Given the description of an element on the screen output the (x, y) to click on. 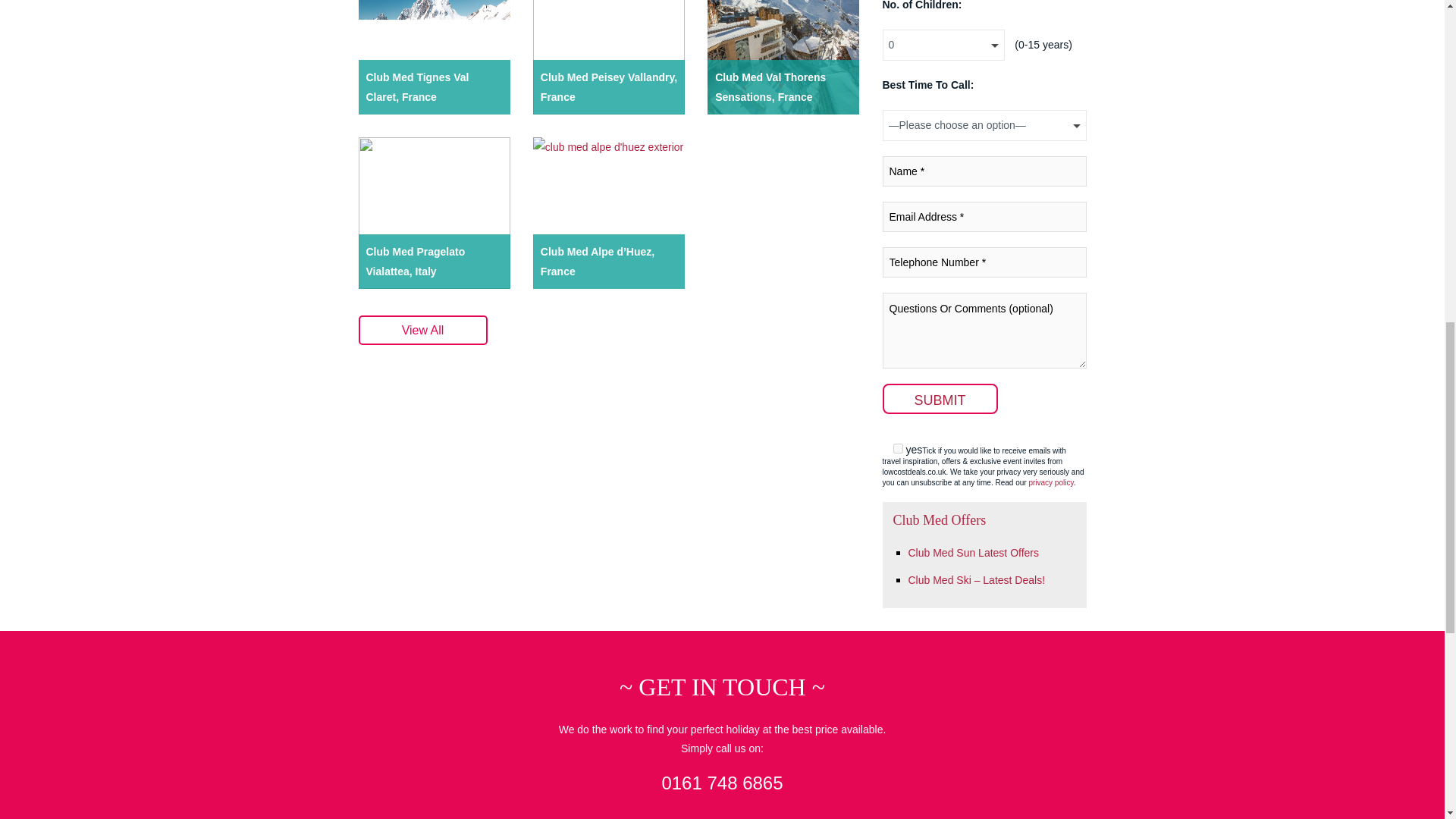
yes (897, 448)
Club Med Peisey Vallandry, France (608, 86)
Club Med Val Thorens Sensations, France (783, 86)
Club Med Tignes Val Claret, France (433, 57)
Club Med Pragelato Vialattea, Italy (433, 261)
Club Med Tignes Val Claret, France (433, 86)
Club Med Peisey Vallandry, France (608, 57)
Club Med Val Thorens Sensations, France (783, 57)
Club Med Pragelato Vialattea, Italy (433, 213)
Club Med Sun Latest Offers (973, 552)
